Given the description of an element on the screen output the (x, y) to click on. 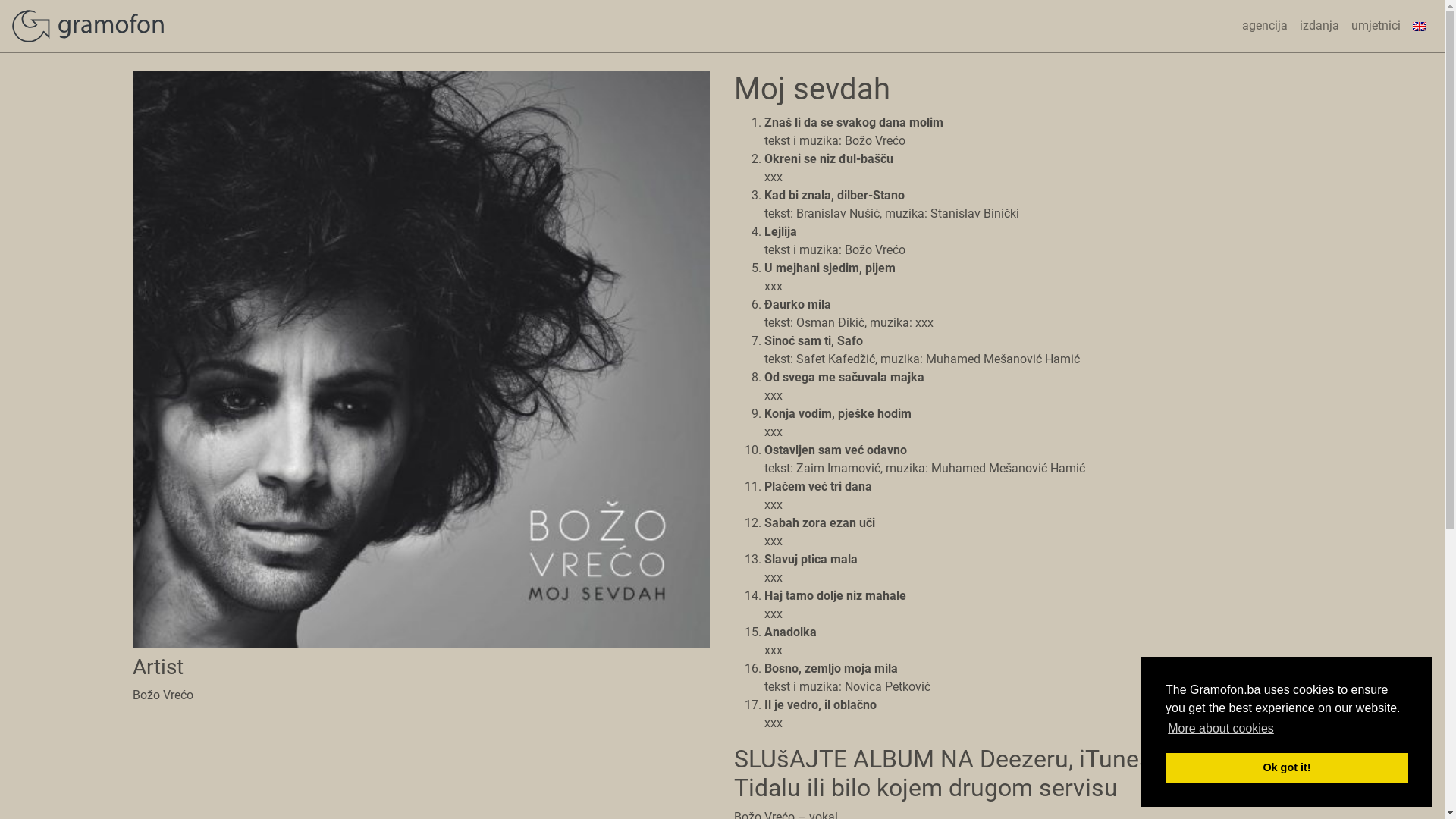
izdanja Element type: text (1319, 25)
Ok got it! Element type: text (1286, 767)
More about cookies Element type: text (1220, 728)
agencija Element type: text (1264, 25)
umjetnici Element type: text (1375, 25)
